Given the description of an element on the screen output the (x, y) to click on. 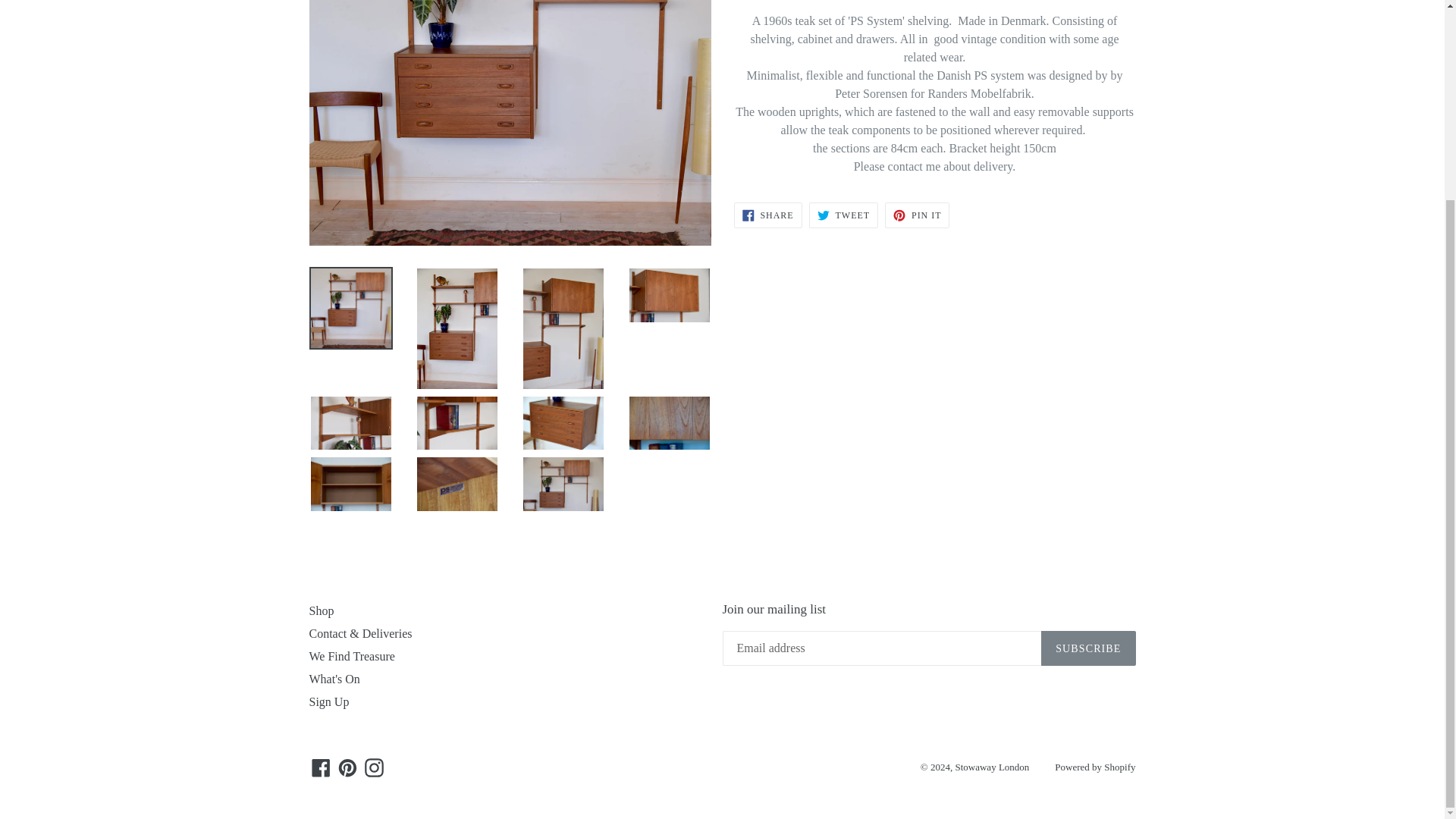
Stowaway London on Instagram (917, 215)
Share on Facebook (373, 768)
Stowaway London on Pinterest (767, 215)
Sign Up (346, 768)
Pin on Pinterest (767, 215)
SUBSCRIBE (328, 701)
Stowaway London on Facebook (917, 215)
We Find Treasure (1088, 647)
Tweet on Twitter (320, 768)
Shop (843, 215)
What's On (351, 656)
